Given the description of an element on the screen output the (x, y) to click on. 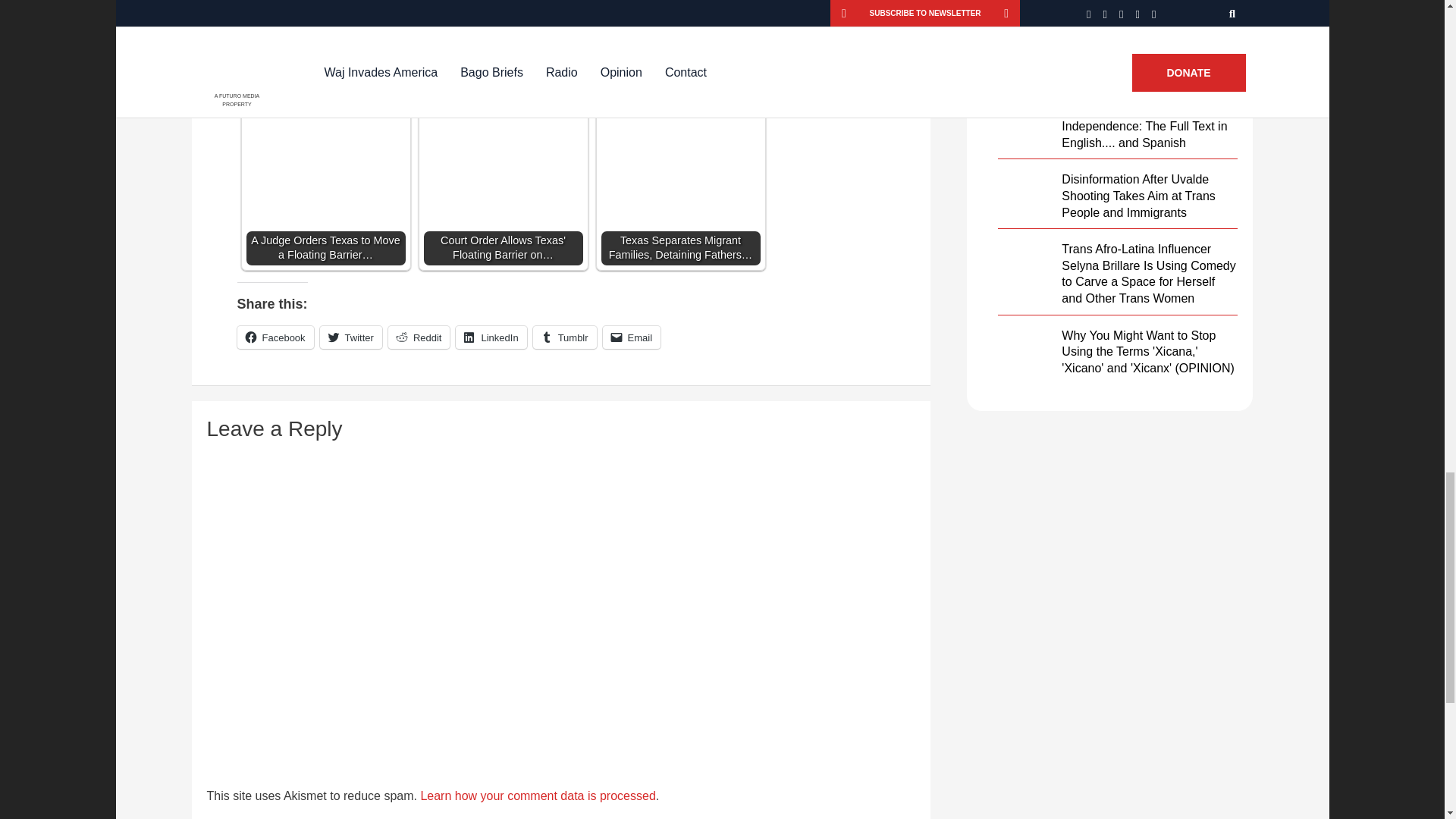
Click to email a link to a friend (631, 336)
Share on Twitter (293, 50)
Click to share on LinkedIn (490, 336)
LinkedIn (490, 336)
Share to LinkedIn (332, 50)
Share on Facebook (255, 50)
Share on Pinterest (370, 50)
Twitter (350, 336)
Facebook (274, 336)
Click to share on Twitter (350, 336)
